Given the description of an element on the screen output the (x, y) to click on. 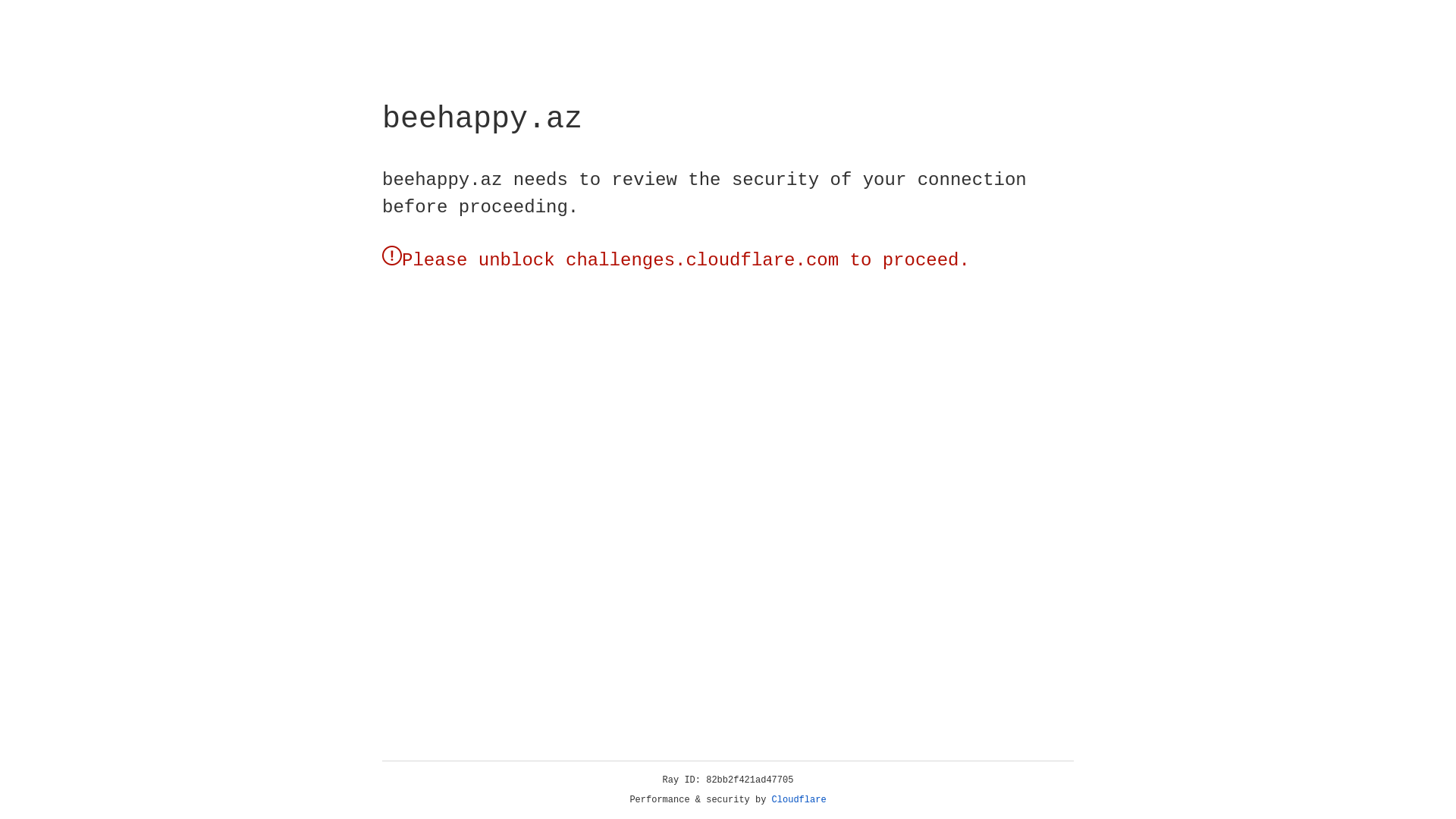
Cloudflare Element type: text (798, 799)
